Given the description of an element on the screen output the (x, y) to click on. 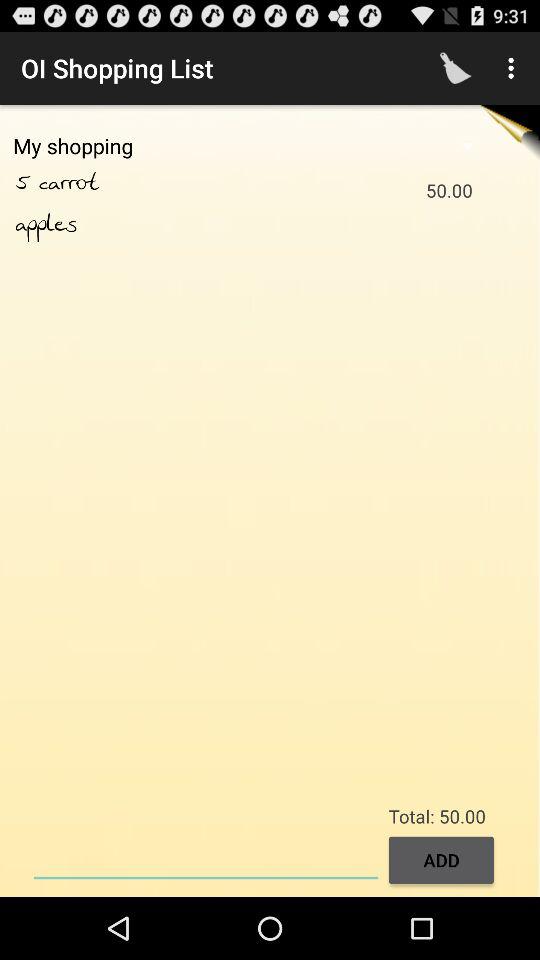
press item below my shopping (27, 183)
